Given the description of an element on the screen output the (x, y) to click on. 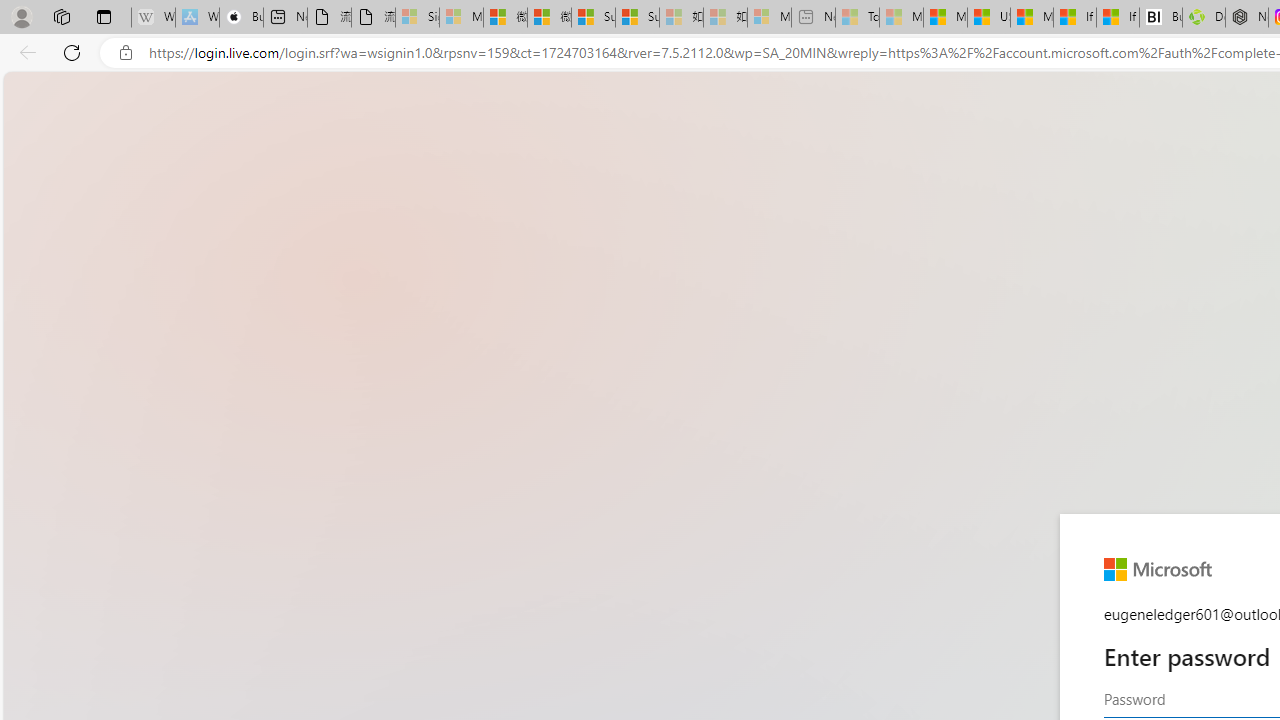
Marine life - MSN - Sleeping (900, 17)
Microsoft Services Agreement - Sleeping (461, 17)
Buy iPad - Apple (241, 17)
US Heat Deaths Soared To Record High Last Year (988, 17)
Top Stories - MSN - Sleeping (857, 17)
Nordace - Nordace Edin Collection (1247, 17)
Sign in to your Microsoft account - Sleeping (417, 17)
